Given the description of an element on the screen output the (x, y) to click on. 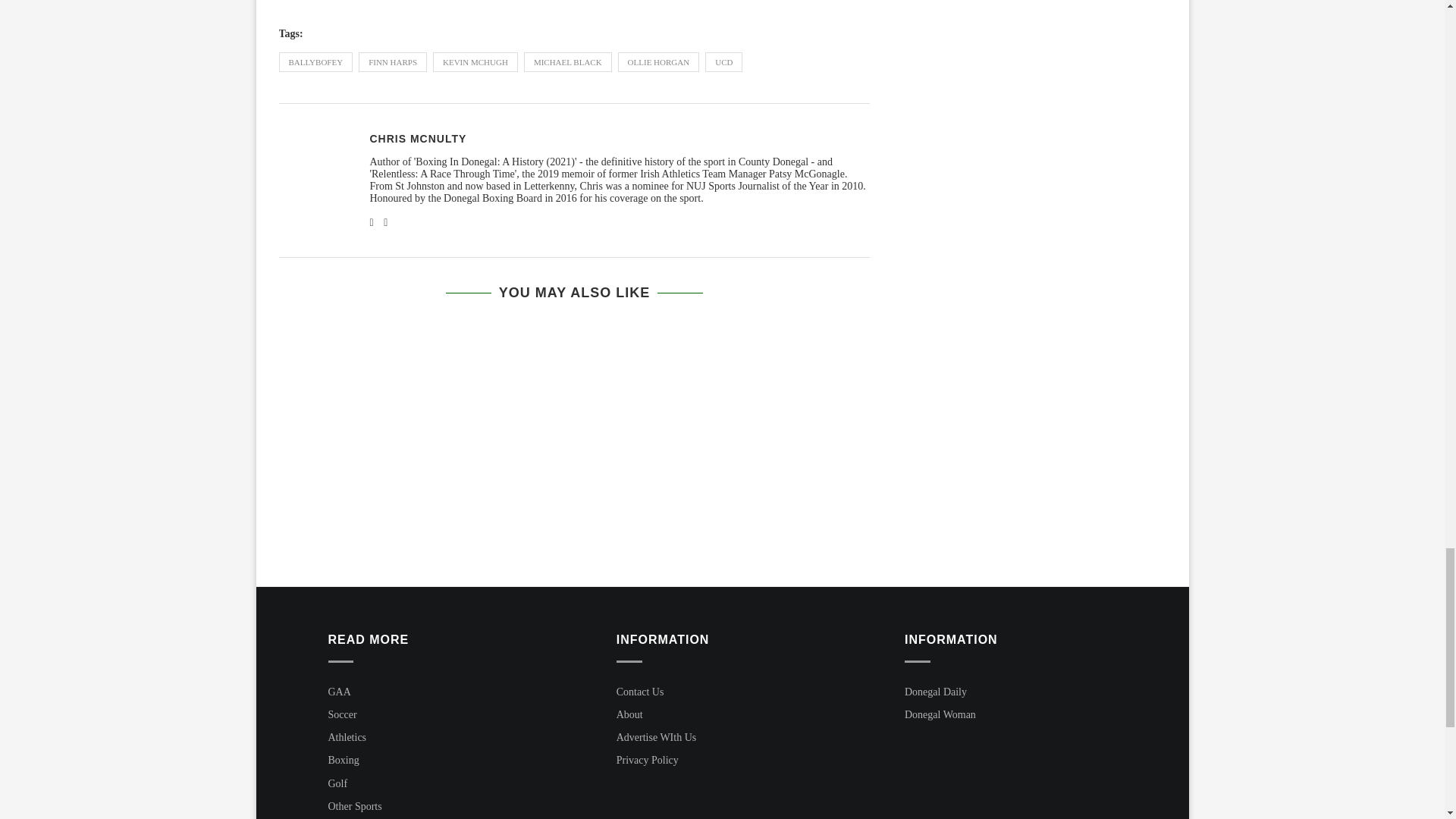
Posts by Chris McNulty (418, 138)
